Given the description of an element on the screen output the (x, y) to click on. 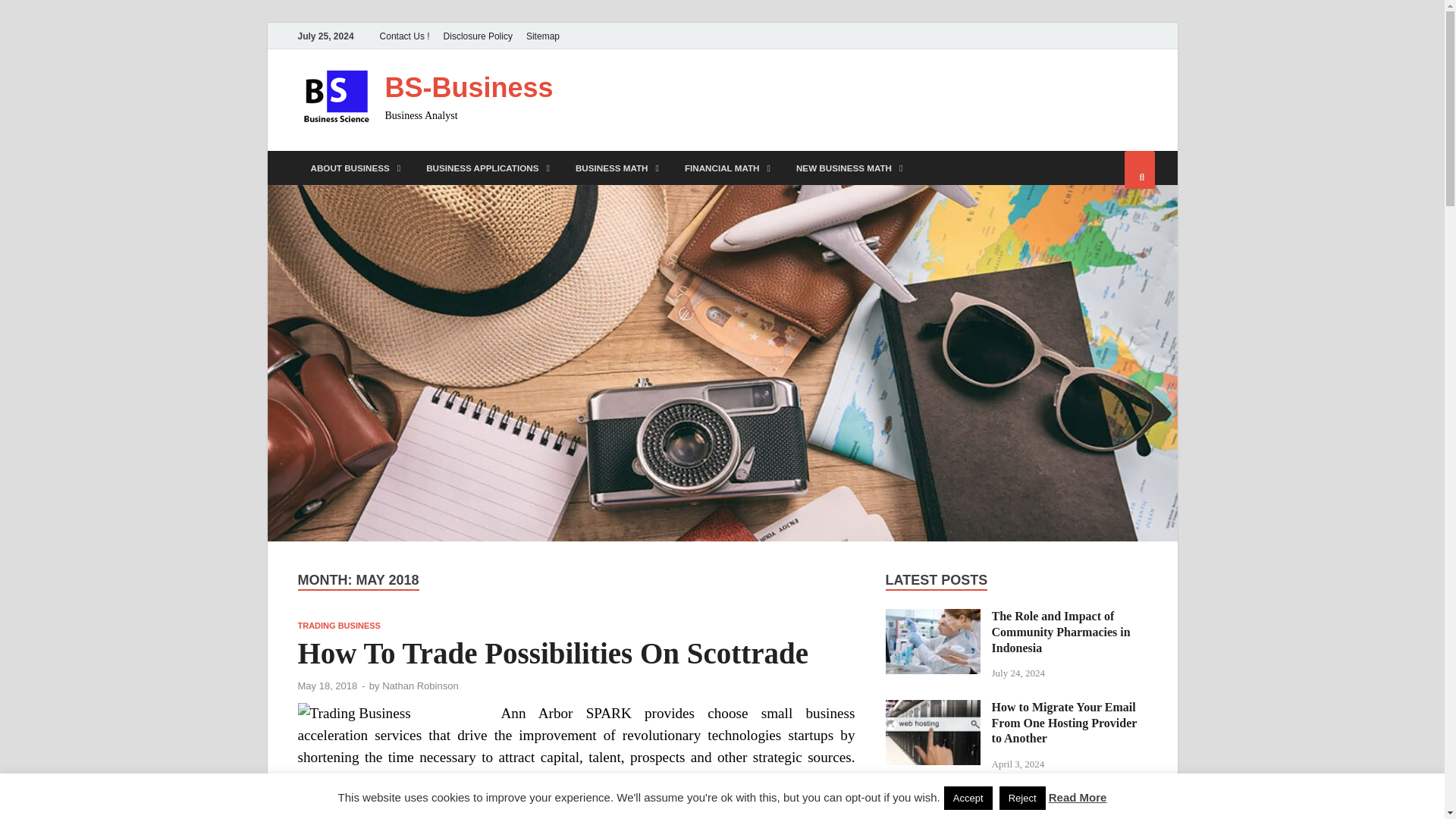
FINANCIAL MATH (727, 167)
The Role and Impact of Community Pharmacies in Indonesia (932, 617)
Disclosure Policy (477, 35)
ABOUT BUSINESS (355, 167)
Sitemap (542, 35)
NEW BUSINESS MATH (849, 167)
BUSINESS APPLICATIONS (487, 167)
Contact Us ! (404, 35)
BUSINESS MATH (616, 167)
BS-Business (469, 87)
